Given the description of an element on the screen output the (x, y) to click on. 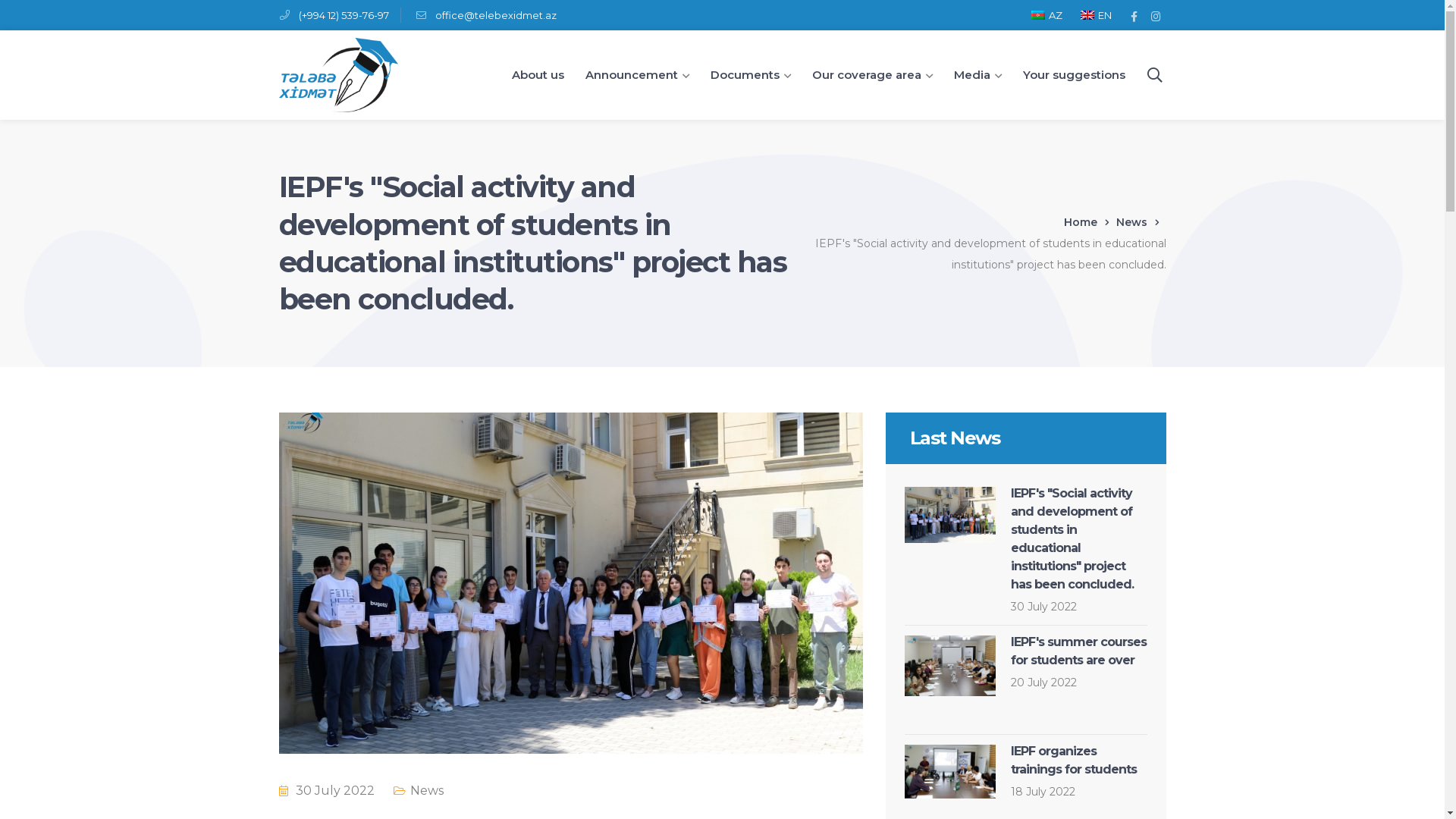
Our coverage area Element type: text (871, 74)
Media Element type: text (977, 74)
Documents Element type: text (749, 74)
IEPF organizes trainings for students Element type: text (1072, 759)
About us Element type: text (537, 74)
English Element type: hover (1086, 14)
Home Element type: text (1089, 221)
Facebook Profile Element type: text (1134, 14)
Azerbaijani Element type: hover (1037, 14)
Your suggestions Element type: text (1073, 74)
News Element type: text (425, 790)
Instagram Profile Element type: text (1155, 14)
Announcement Element type: text (637, 74)
EN Element type: text (1093, 15)
AZ Element type: text (1043, 15)
News Element type: text (1141, 221)
Telebexidmet.az Element type: hover (338, 74)
IEPF's summer courses for students are over Element type: text (1077, 650)
